Given the description of an element on the screen output the (x, y) to click on. 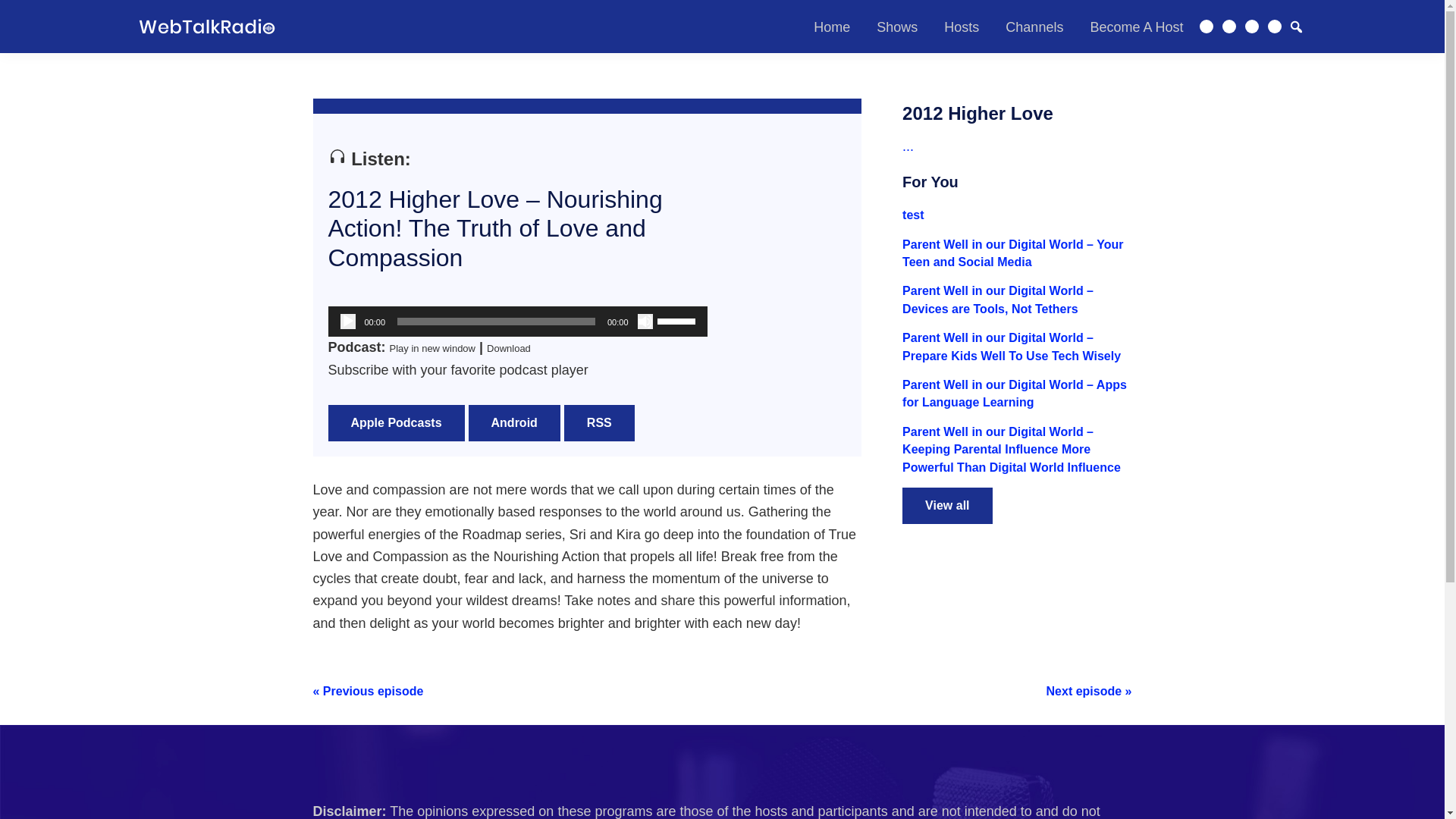
Play (347, 321)
Channels (1034, 27)
Download (508, 348)
RSS (599, 422)
test (912, 214)
Mute (644, 321)
Apple Podcasts (395, 422)
From your favorite podcast player, subscribe here (599, 422)
Become A Host (1135, 27)
Shows (896, 27)
Android (514, 422)
Play in new window (433, 348)
Download (508, 348)
test (912, 214)
